Given the description of an element on the screen output the (x, y) to click on. 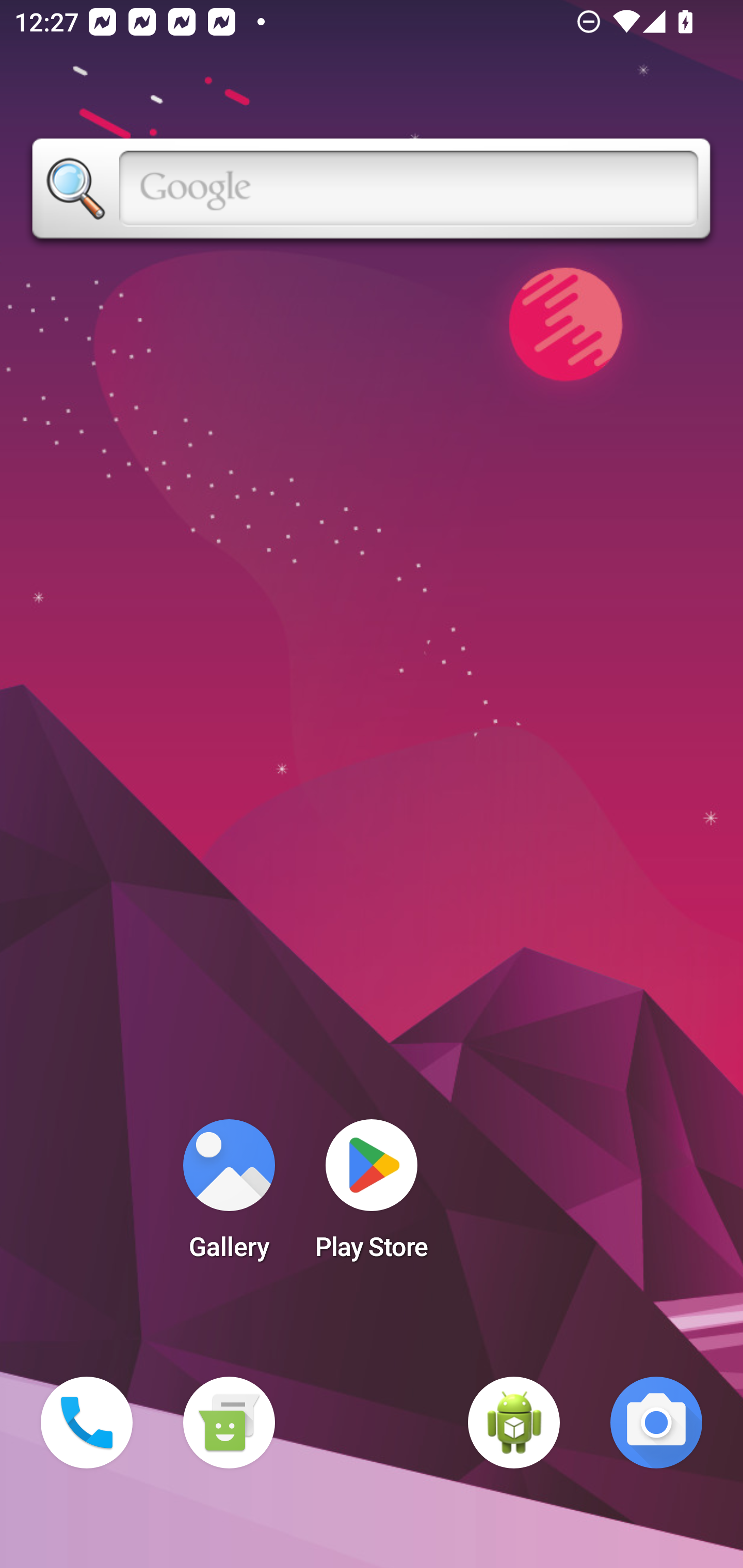
Gallery (228, 1195)
Play Store (371, 1195)
Phone (86, 1422)
Messaging (228, 1422)
WebView Browser Tester (513, 1422)
Camera (656, 1422)
